Given the description of an element on the screen output the (x, y) to click on. 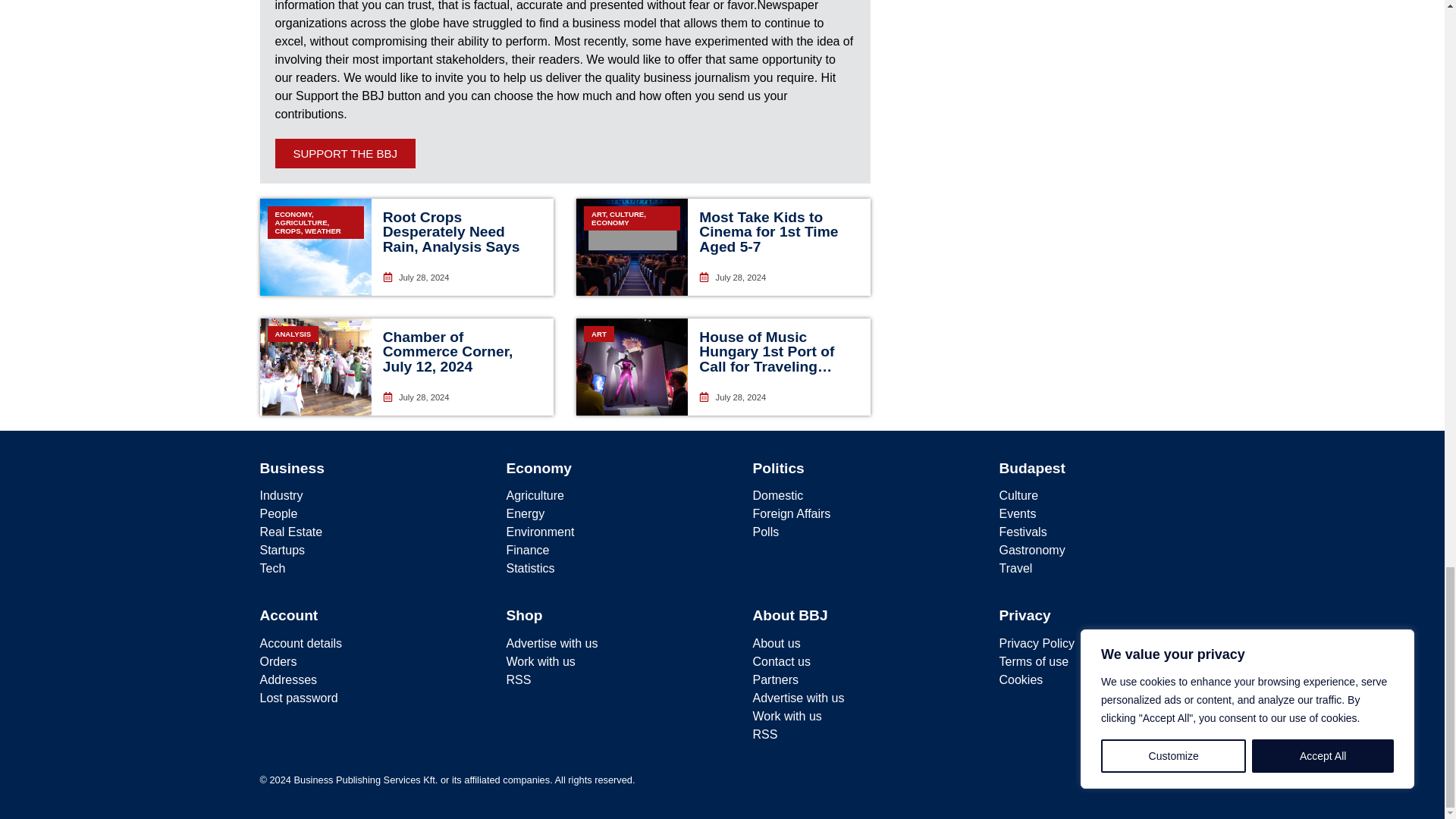
ANALYSIS (315, 366)
ART (631, 366)
Most Take Kids to Cinema for 1st Time Aged 5-7 (768, 231)
ECONOMY, AGRICULTURE, CROPS, WEATHER (315, 247)
SUPPORT THE BBJ (344, 153)
Chamber of Commerce Corner, July 12, 2024 (447, 351)
Root Crops Desperately Need Rain, Analysis Says (450, 231)
ART, CULTURE, ECONOMY (631, 247)
